Given the description of an element on the screen output the (x, y) to click on. 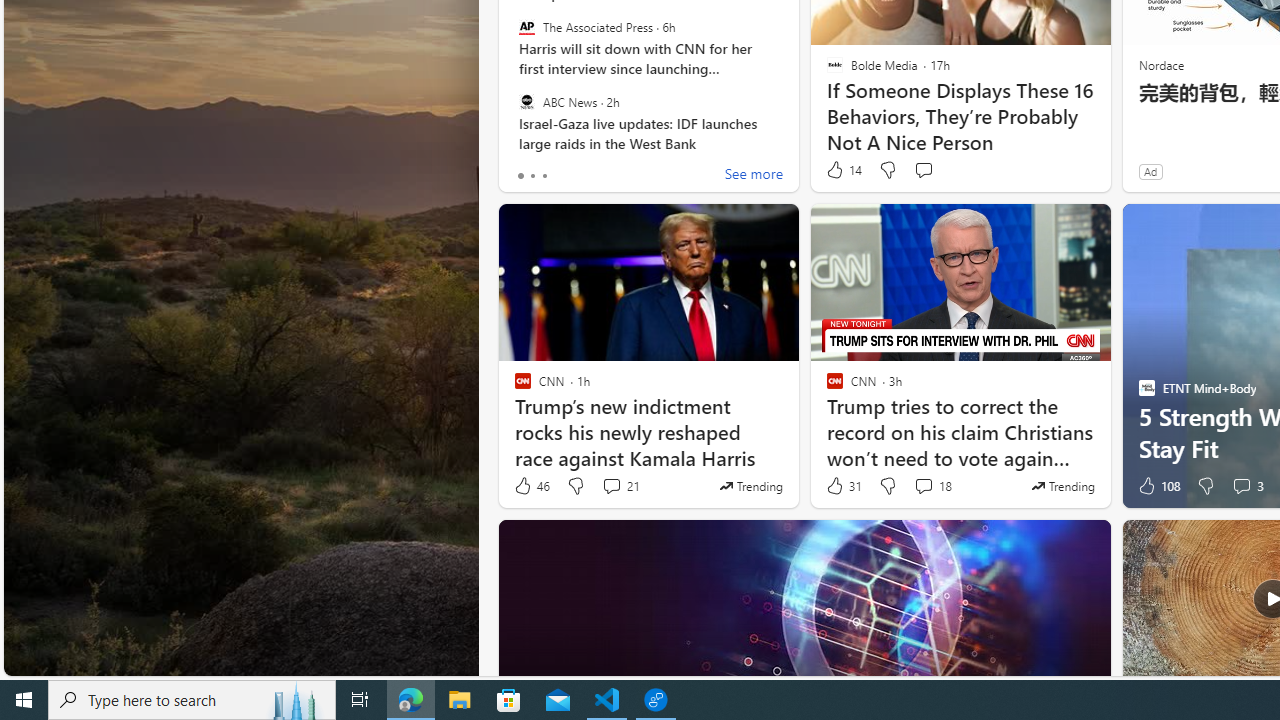
This story is trending (1062, 485)
View comments 18 Comment (923, 485)
tab-2 (543, 175)
31 Like (843, 485)
View comments 21 Comment (611, 485)
46 Like (531, 485)
See more (753, 175)
View comments 18 Comment (932, 485)
